Given the description of an element on the screen output the (x, y) to click on. 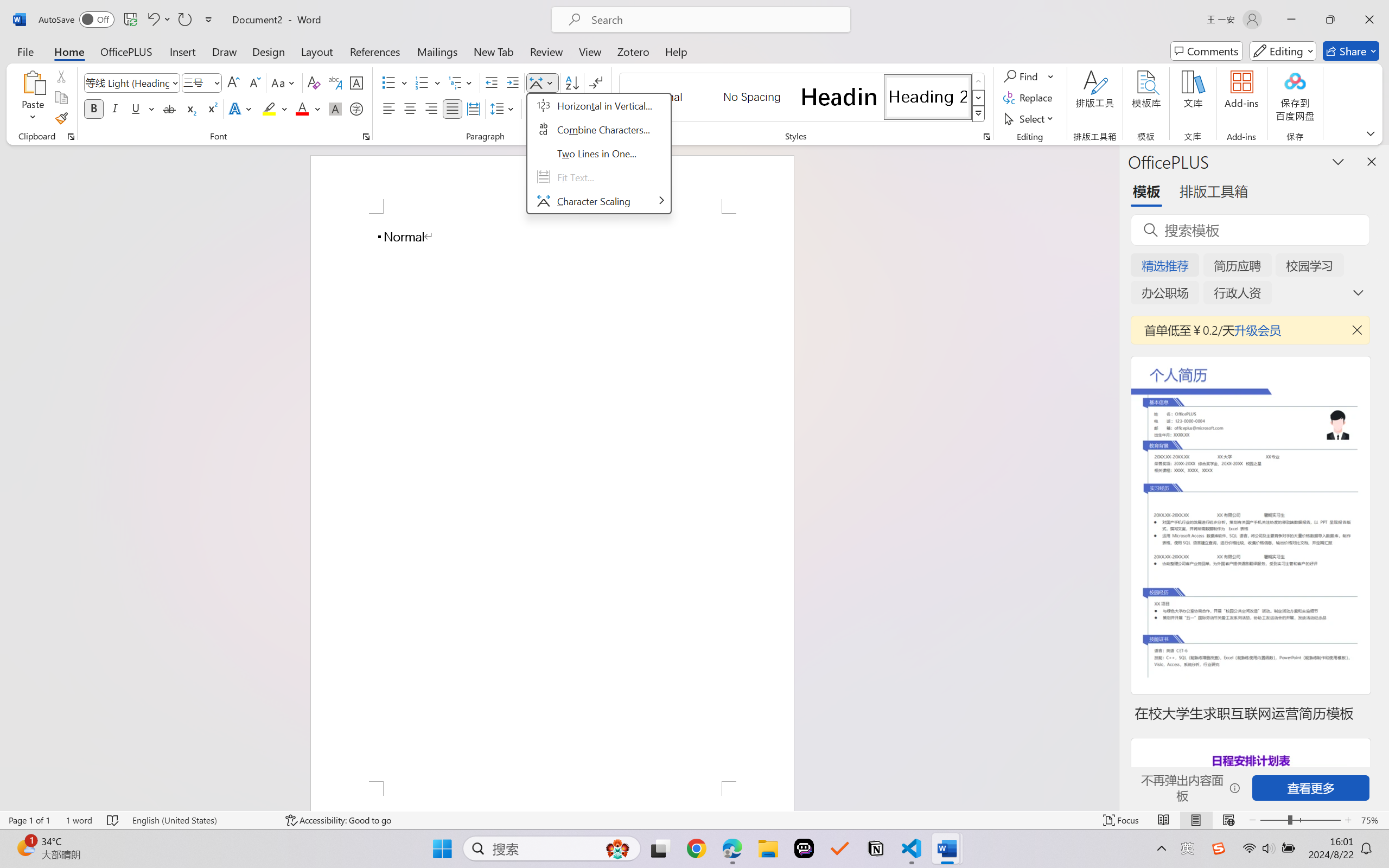
Align Right (431, 108)
Home (69, 51)
Font Size (201, 82)
